Given the description of an element on the screen output the (x, y) to click on. 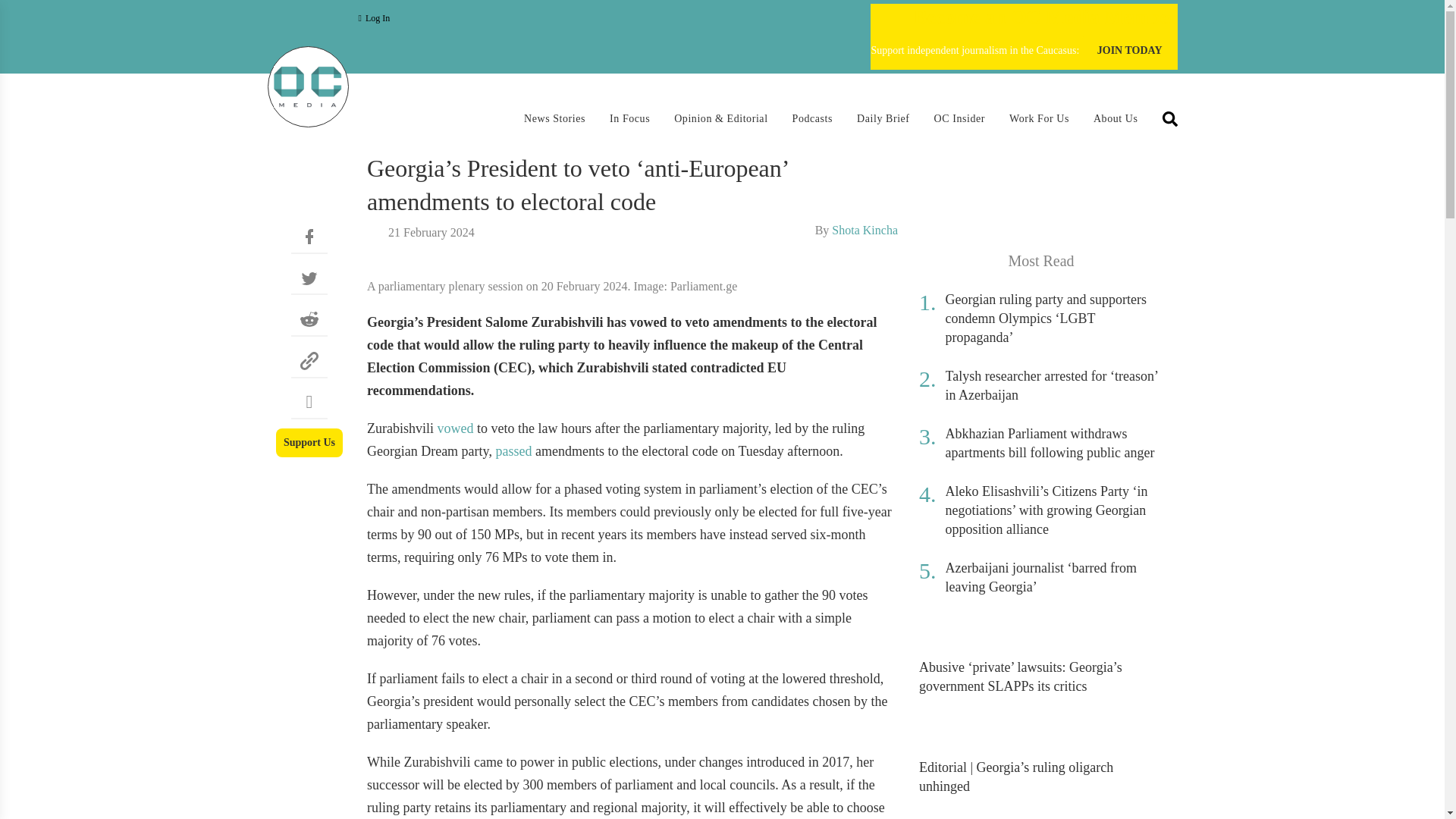
Work For Us (1038, 118)
Daily Brief (883, 118)
In Focus (629, 118)
OC Insider (959, 118)
News Stories (554, 118)
About Us (1115, 118)
JOIN TODAY (1129, 51)
Podcasts (812, 118)
